Given the description of an element on the screen output the (x, y) to click on. 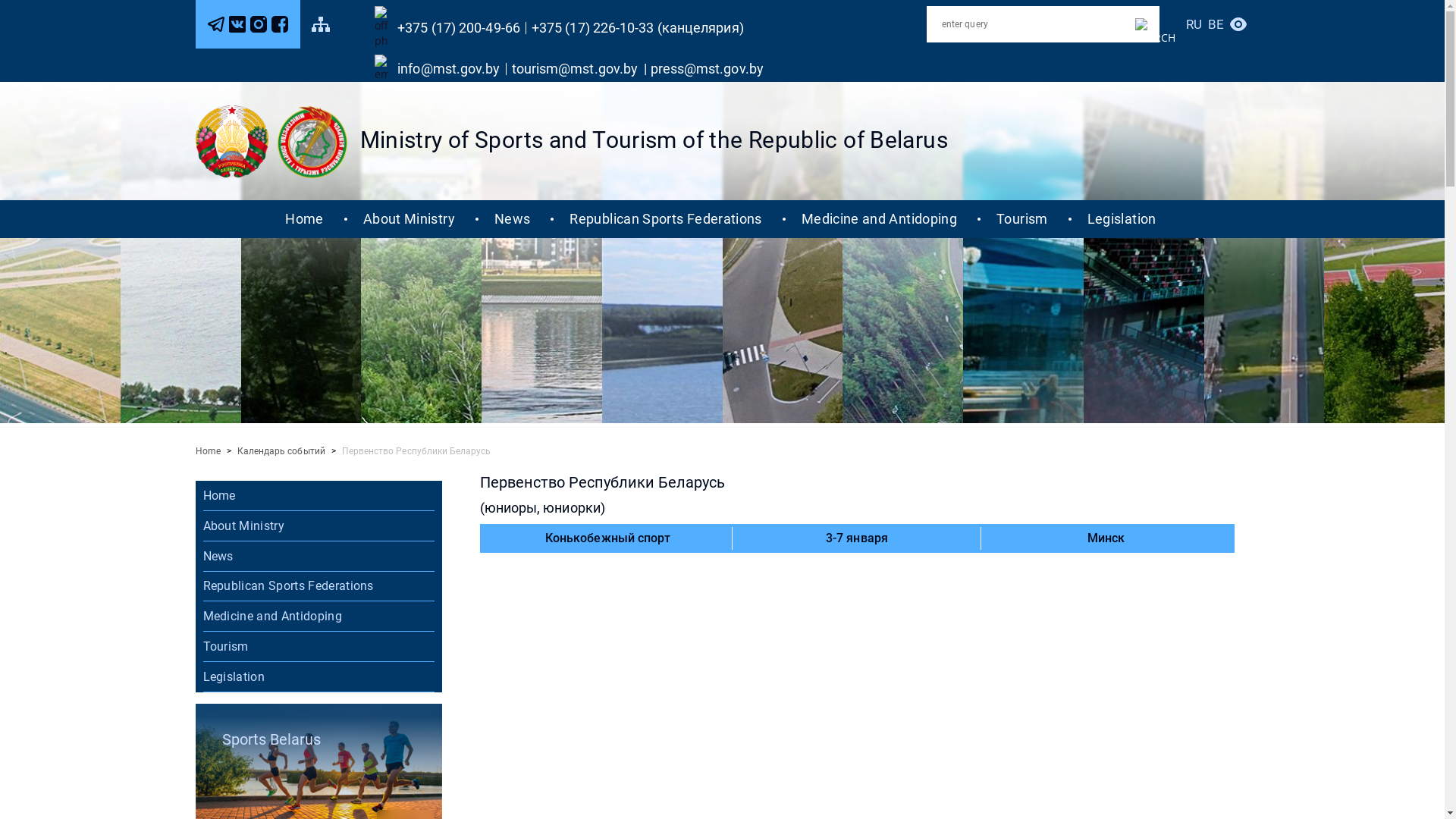
Version for the visually impaired Element type: hover (1237, 24)
BE Element type: text (1215, 24)
Medicine and Antidoping Element type: text (879, 218)
Tourism Element type: text (318, 646)
Tourism Element type: text (1022, 218)
RU Element type: text (1193, 24)
Republican Sports Federations Element type: text (665, 218)
About Ministry Element type: text (318, 526)
Home Element type: text (318, 495)
Sports Belarus Element type: text (317, 739)
| press@mst.gov.by Element type: text (703, 68)
Legislation Element type: text (1121, 218)
Republican Sports Federations Element type: text (318, 586)
Medicine and Antidoping Element type: text (318, 616)
+375 (17) 200-49-66 Element type: text (464, 27)
Home Element type: text (304, 218)
tourism@mst.gov.by   Element type: text (577, 68)
Home Element type: text (207, 450)
News Element type: text (512, 218)
Legislation Element type: text (318, 677)
About Ministry Element type: text (409, 218)
Ministry of Sports and Tourism of the Republic of Belarus Element type: text (653, 139)
info@mst.gov.by Element type: text (454, 68)
News Element type: text (318, 556)
